Given the description of an element on the screen output the (x, y) to click on. 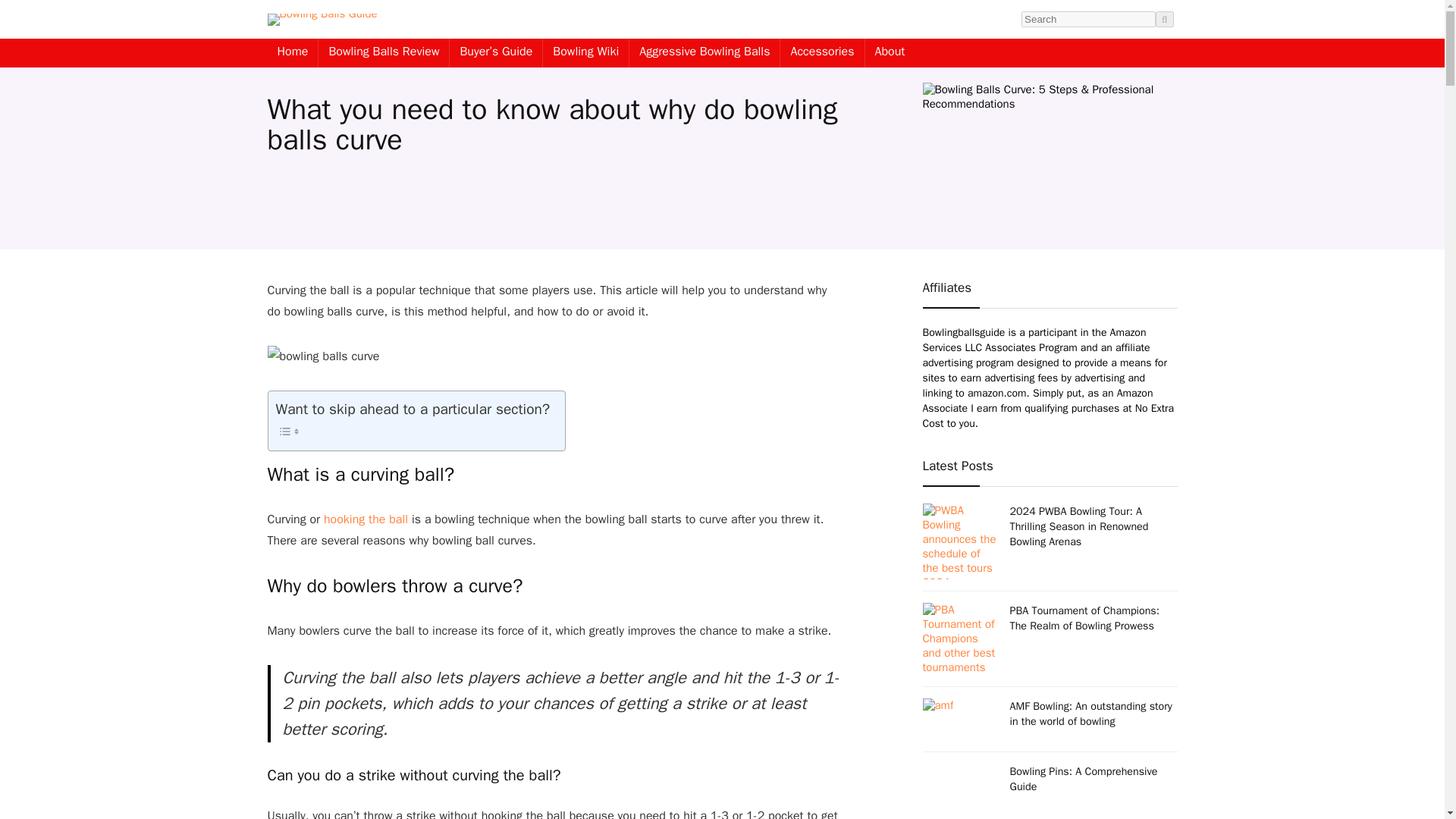
Accessories (821, 52)
About (889, 52)
Bowling Wiki (585, 52)
Home (291, 52)
Aggressive Bowling Balls (703, 52)
hooking the ball (363, 519)
Bowling Balls Review (383, 52)
